Given the description of an element on the screen output the (x, y) to click on. 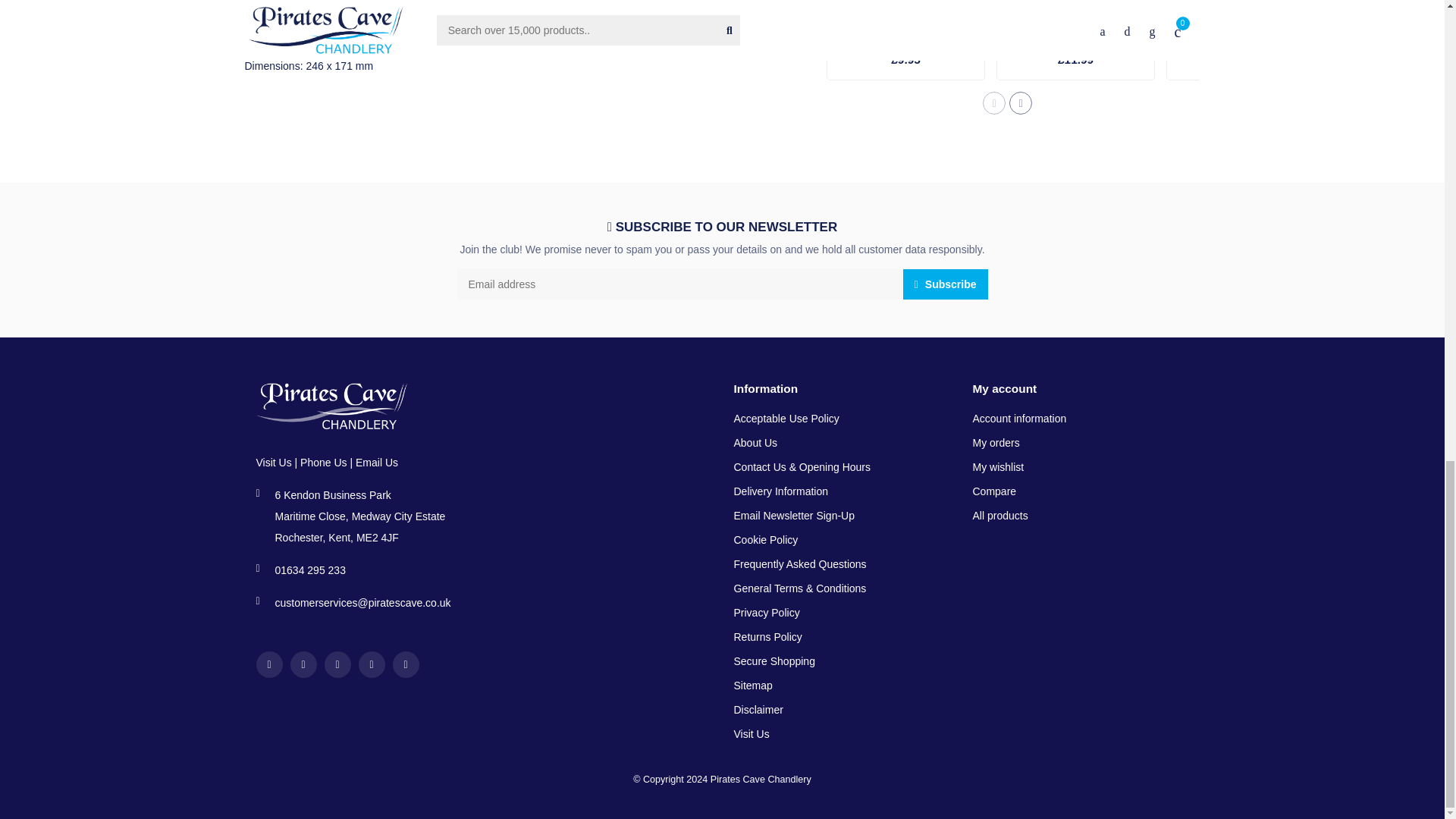
Email Newsletter Sign-Up (794, 516)
Frequently Asked Questions (799, 564)
Secure Shopping (774, 662)
Privacy Policy (766, 613)
Returns Policy (767, 637)
Delivery Information (780, 491)
Sitemap (753, 686)
About Us (755, 443)
Cookie Policy (765, 540)
Acceptable Use Policy (786, 419)
